Given the description of an element on the screen output the (x, y) to click on. 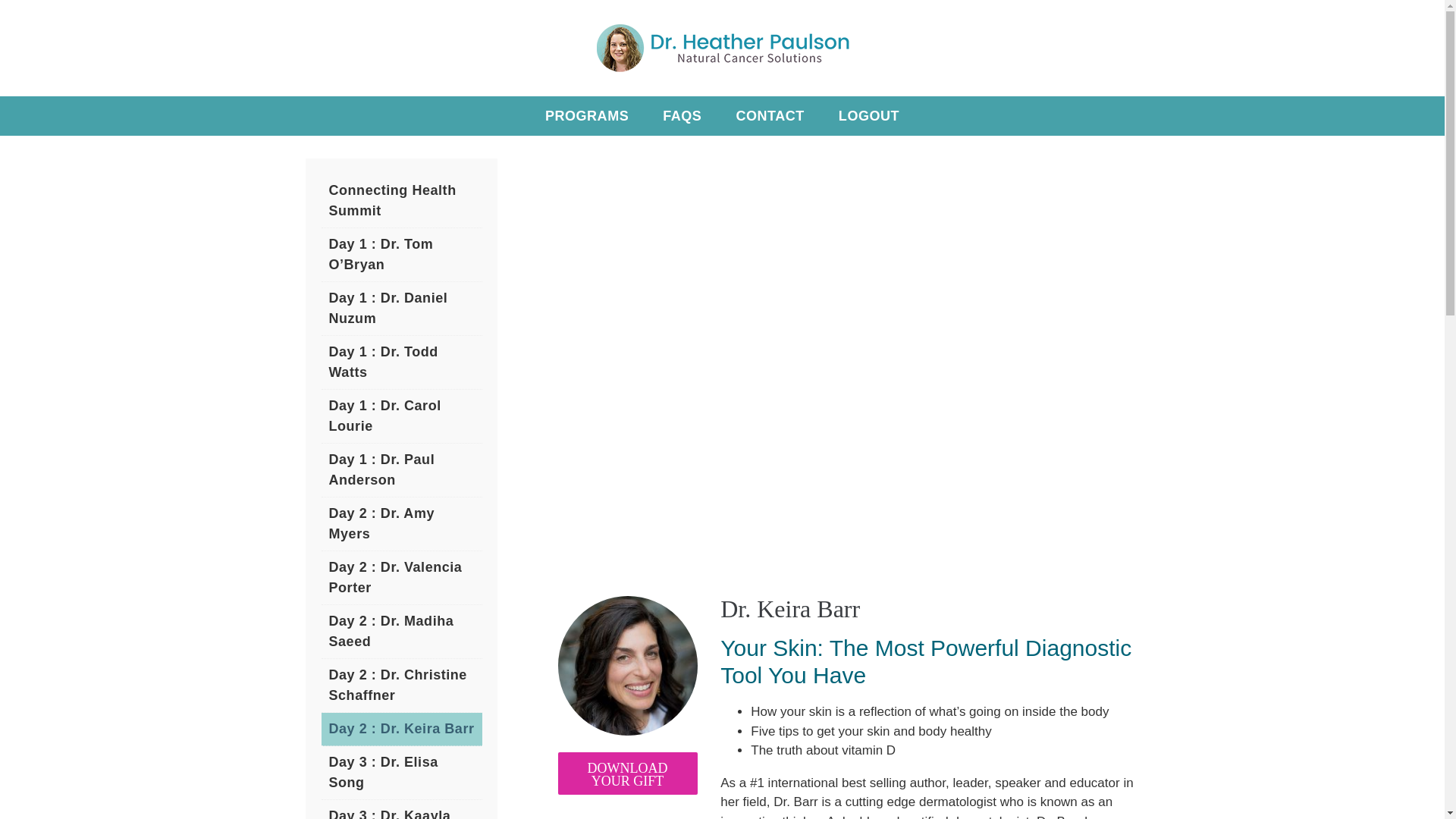
Day 1 : Dr. Todd Watts (401, 362)
Day 1 : Dr. Paul Anderson (401, 470)
Day 1 : Dr. Daniel Nuzum (401, 308)
Back to Parent Page (401, 201)
Day 2 : Dr. Madiha Saeed (401, 632)
Day 2 : Dr. Keira Barr (401, 729)
Day 2 : Dr. Amy Myers (401, 524)
LOGOUT (868, 116)
CONTACT (769, 116)
